Given the description of an element on the screen output the (x, y) to click on. 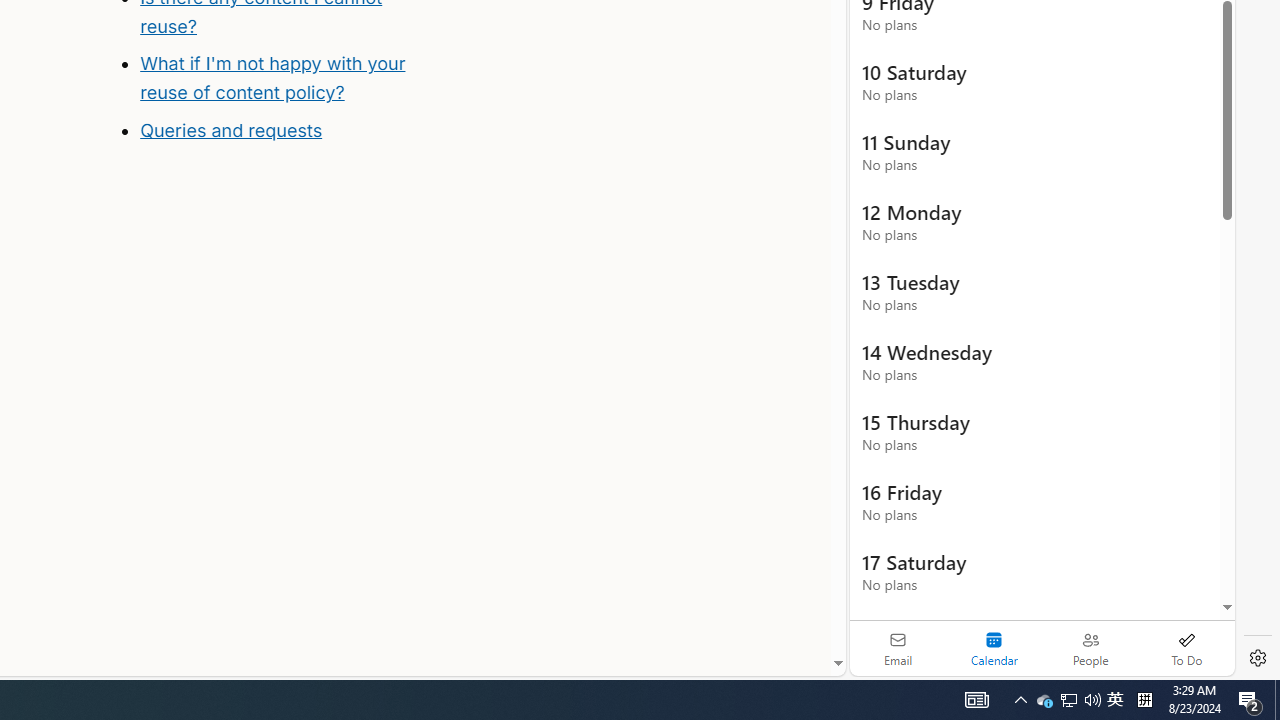
What if I'm not happy with your reuse of content policy? (272, 78)
